Given the description of an element on the screen output the (x, y) to click on. 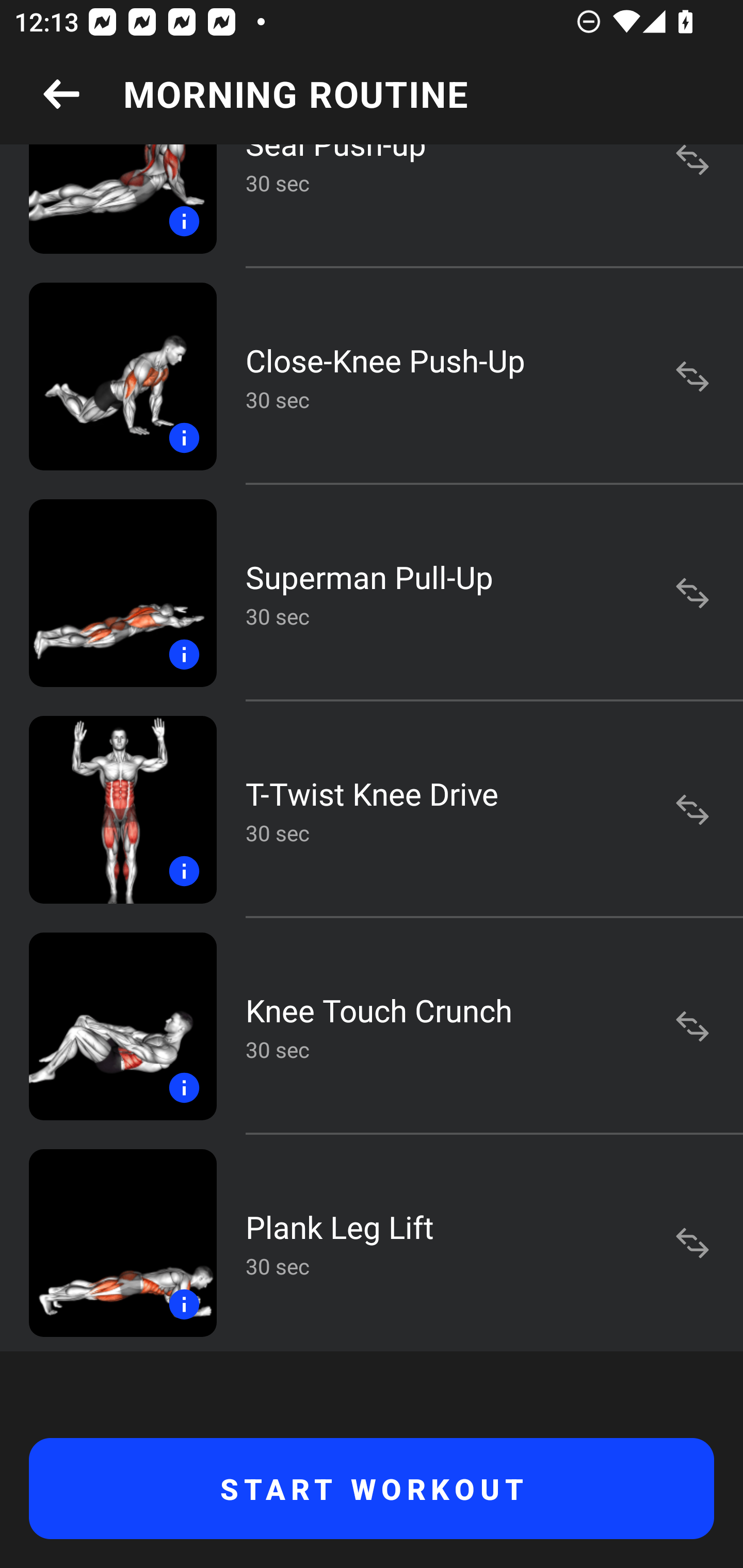
Seal Push-up 30 sec (371, 206)
Close-Knee Push-Up 30 sec (371, 376)
Superman Pull-Up 30 sec (371, 592)
T-Twist Knee Drive 30 sec (371, 809)
Knee Touch Crunch 30 sec (371, 1026)
Plank Leg Lift 30 sec (371, 1243)
START WORKOUT (371, 1488)
